Given the description of an element on the screen output the (x, y) to click on. 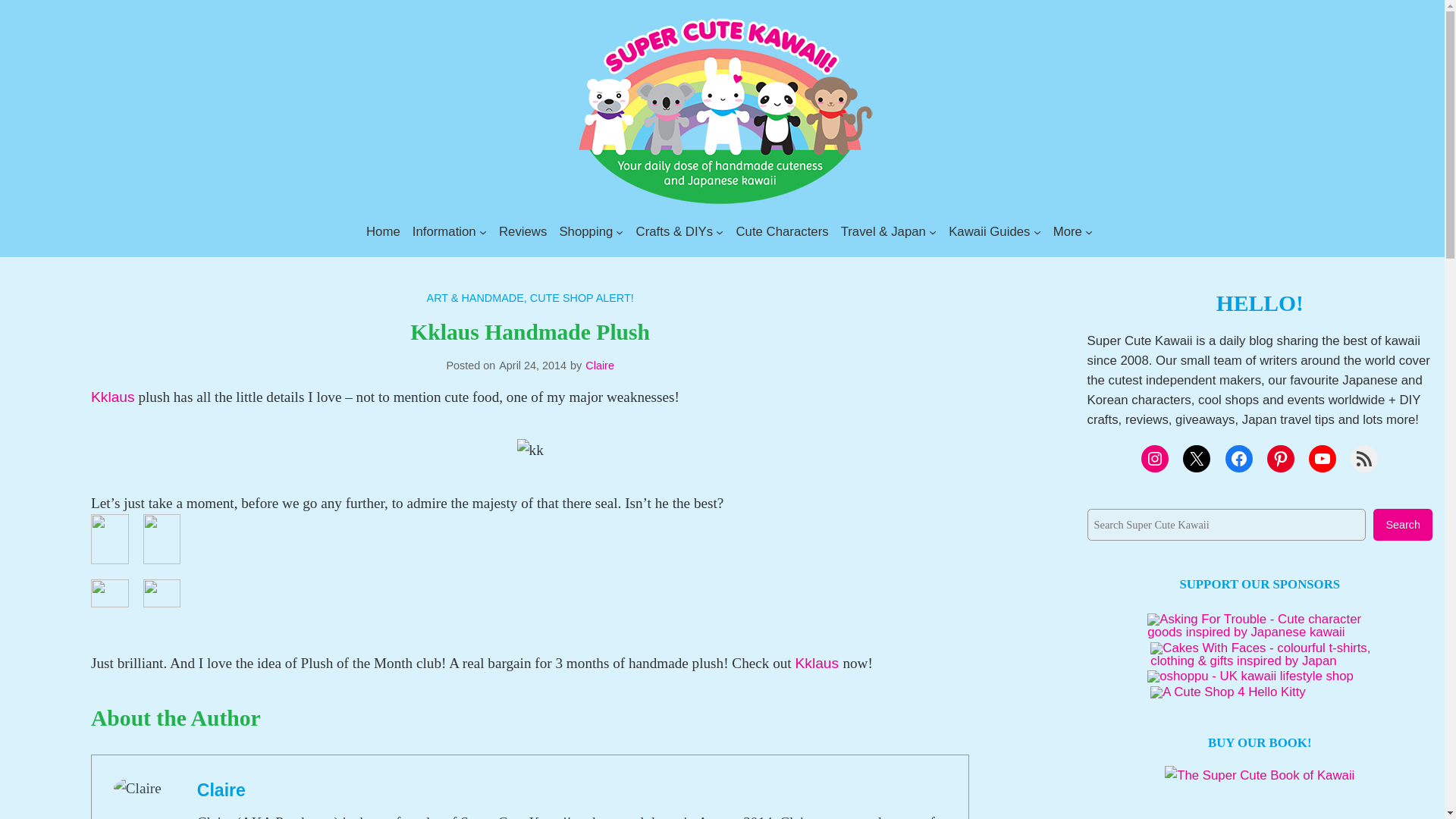
Reviews (523, 231)
Shopping (585, 231)
Home (383, 231)
Claire (221, 790)
Information (444, 231)
